Given the description of an element on the screen output the (x, y) to click on. 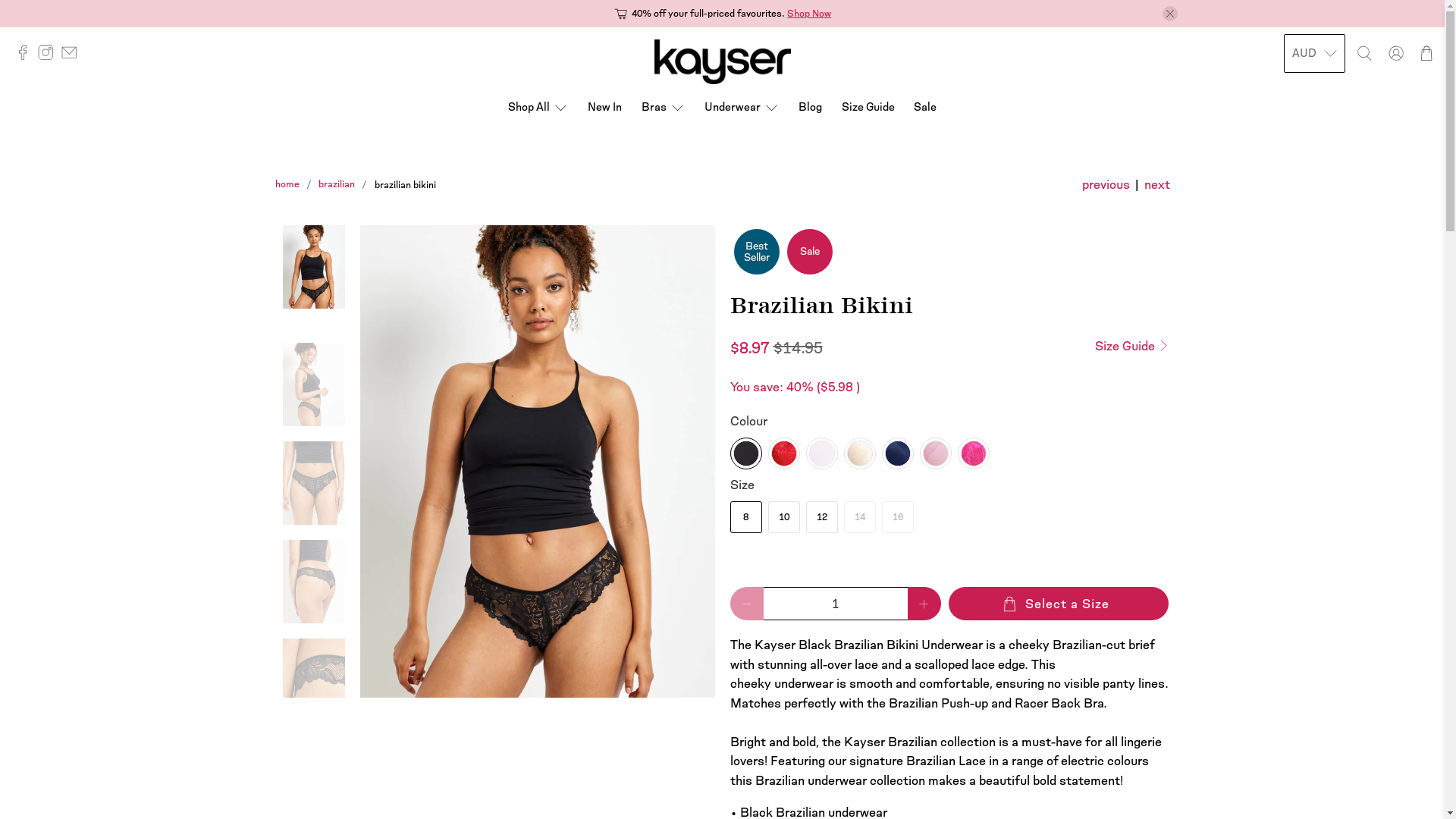
brazilian Element type: text (336, 184)
AUD Element type: text (1314, 52)
home Element type: text (286, 184)
next Element type: text (1156, 184)
Kayser Lingerie Element type: hover (721, 61)
Email Kayser Lingerie Element type: hover (72, 55)
GBP Element type: text (1314, 209)
AUD Element type: text (1314, 246)
CAD Element type: text (1314, 134)
JPY Element type: text (1314, 320)
previous Element type: text (1105, 184)
New In Element type: text (604, 107)
Size Guide Element type: text (1132, 346)
Underwear Element type: text (741, 107)
Kayser Lingerie on Facebook Element type: hover (26, 55)
Kayser Lingerie on Instagram Element type: hover (48, 55)
EUR Element type: text (1314, 283)
Blog Element type: text (809, 107)
Size Guide Element type: text (867, 107)
Brazilian Bikini Element type: hover (537, 460)
Shop All Element type: text (537, 107)
Sale Element type: text (924, 107)
Shop Now Element type: text (809, 12)
Select a Size Element type: text (1057, 603)
Bras Element type: text (662, 107)
USD Element type: text (1314, 97)
INR Element type: text (1314, 172)
